Given the description of an element on the screen output the (x, y) to click on. 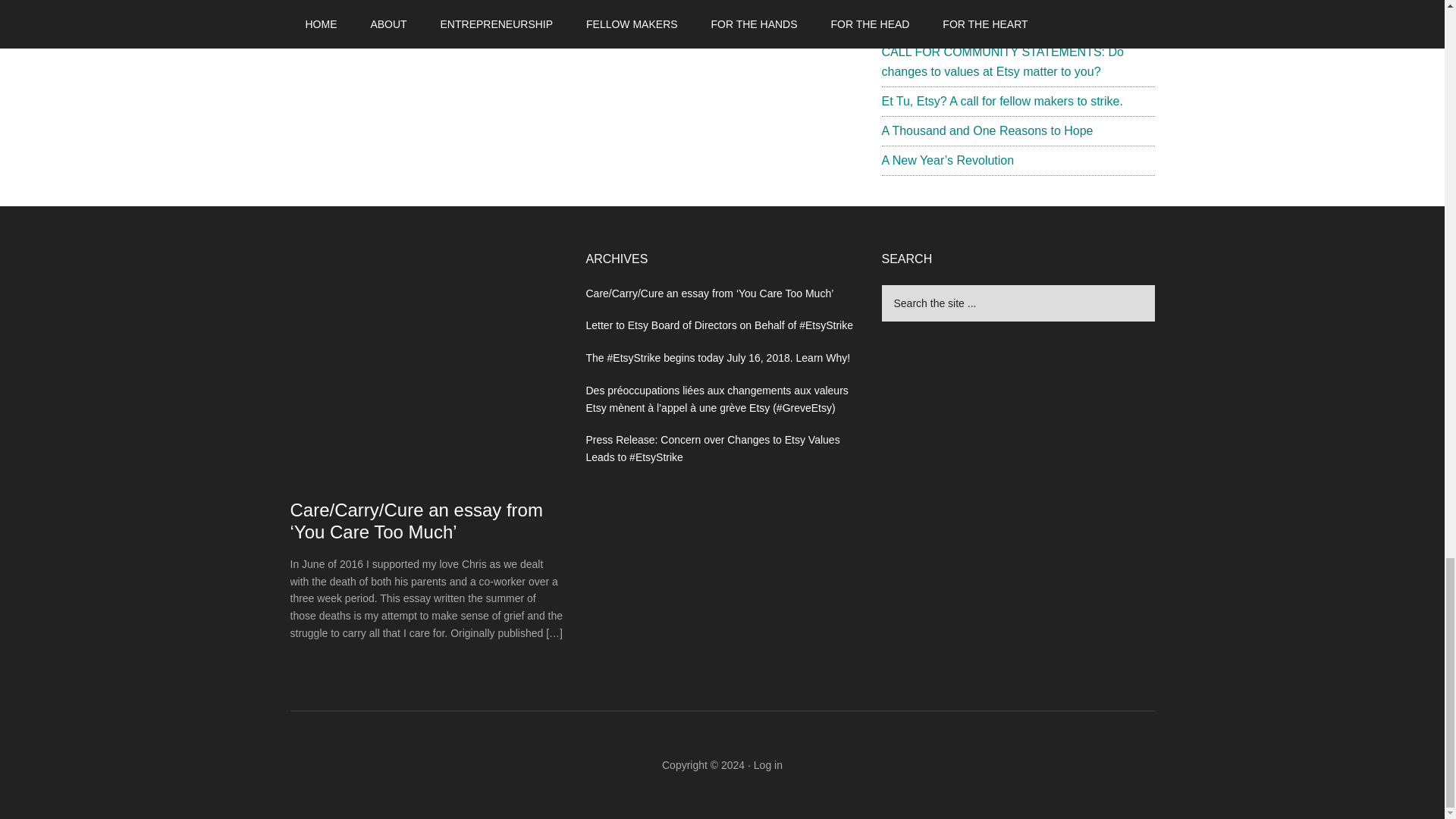
For the Head (381, 15)
